Given the description of an element on the screen output the (x, y) to click on. 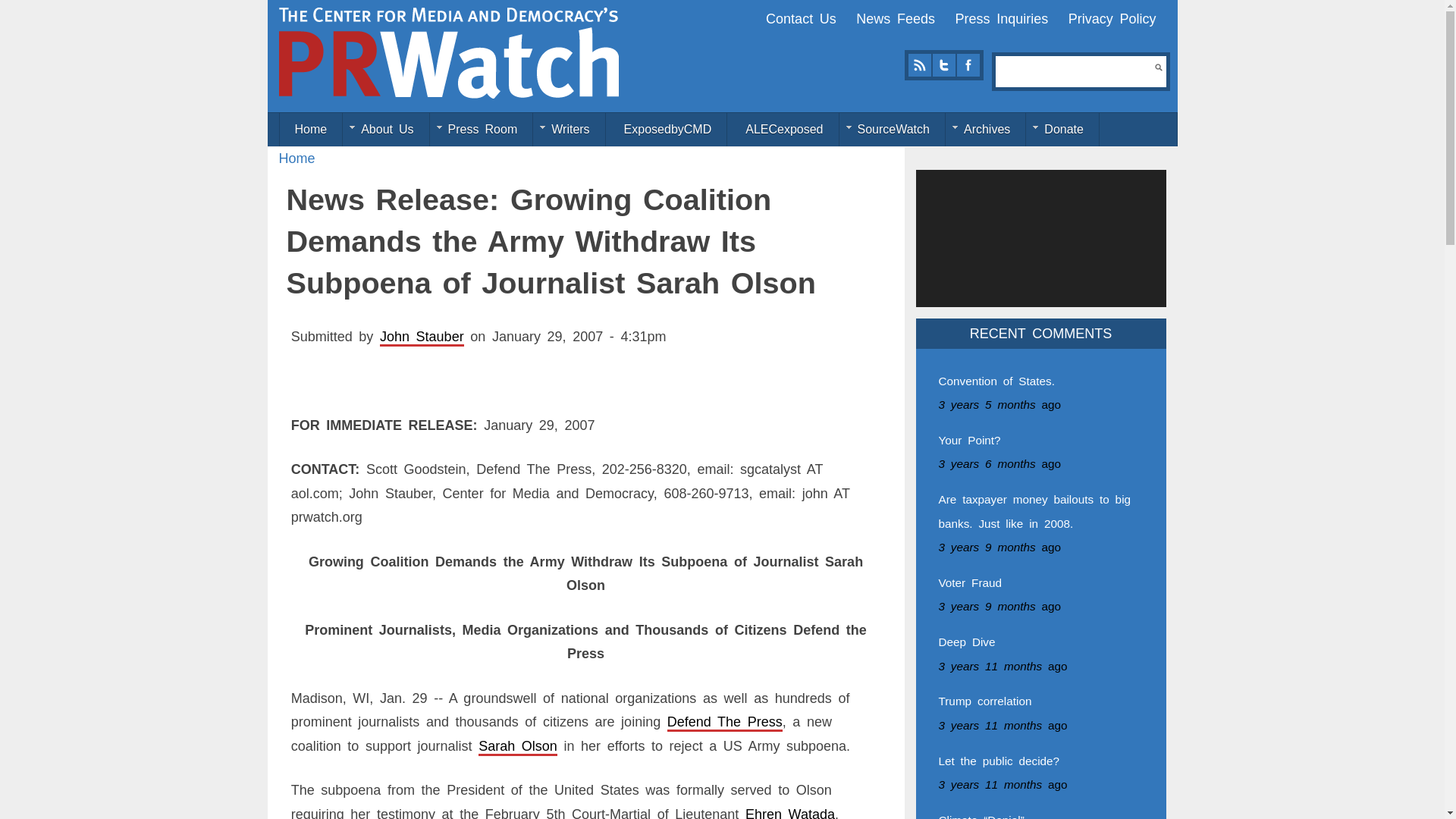
Defend The Press (724, 721)
Contact Us (800, 18)
RSS (919, 64)
News Feeds (895, 18)
Join CMD's Facebook Page (967, 64)
Enter the terms you wish to search for. (1074, 71)
View user profile. (422, 336)
Follow CMD's Posts on Twitter (943, 64)
Home (297, 158)
Home (448, 52)
Subscribe to CMD's RSS Feeds (919, 64)
Search (1157, 67)
Search (1157, 67)
John Stauber (422, 336)
Twitter (943, 64)
